Given the description of an element on the screen output the (x, y) to click on. 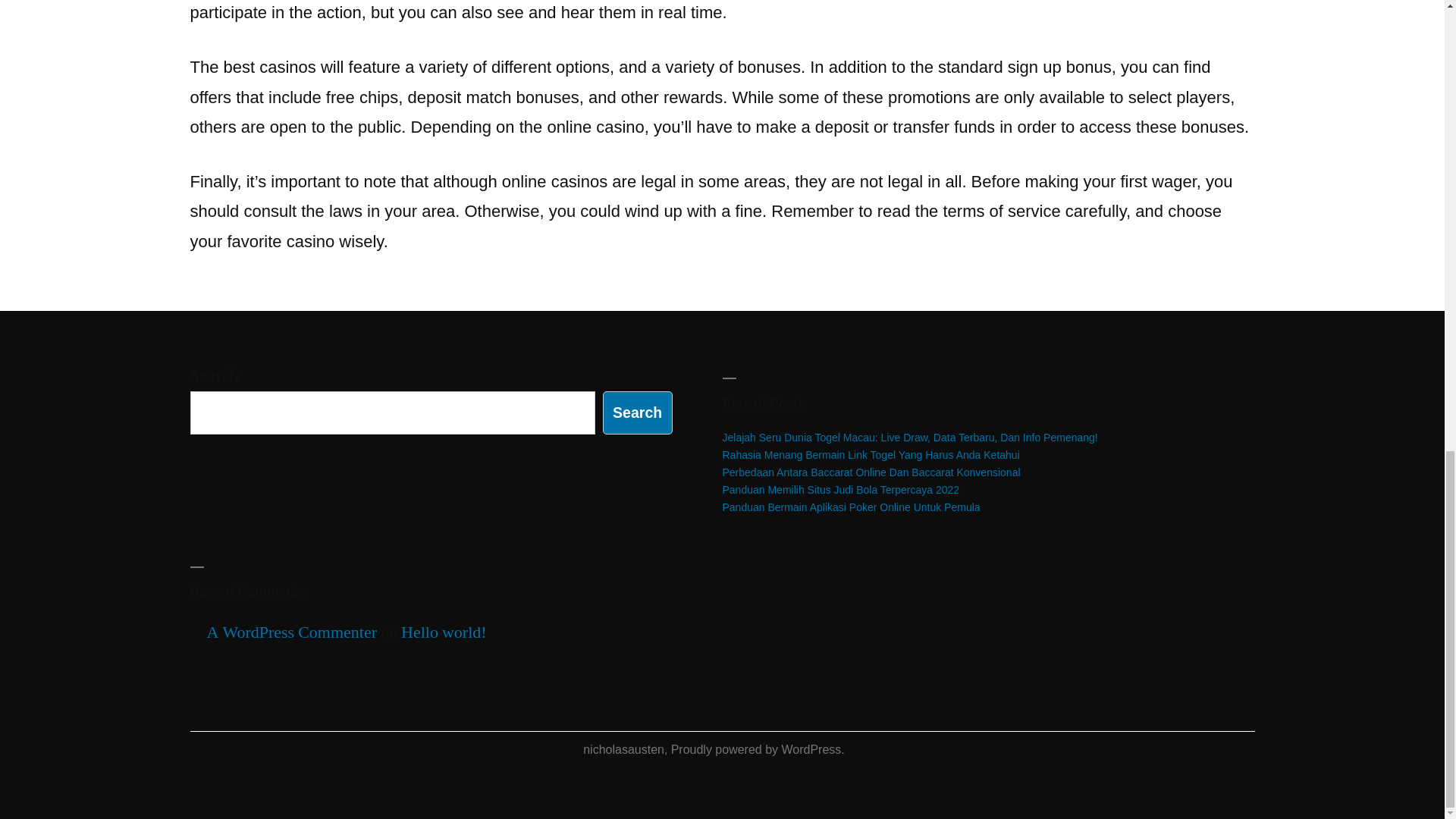
Proudly powered by WordPress. (757, 748)
Hello world! (443, 631)
nicholasausten (623, 748)
Rahasia Menang Bermain Link Togel Yang Harus Anda Ketahui (870, 454)
A WordPress Commenter (291, 631)
Panduan Bermain Aplikasi Poker Online Untuk Pemula (850, 507)
Search (637, 412)
Perbedaan Antara Baccarat Online Dan Baccarat Konvensional (871, 472)
Panduan Memilih Situs Judi Bola Terpercaya 2022 (840, 490)
